Given the description of an element on the screen output the (x, y) to click on. 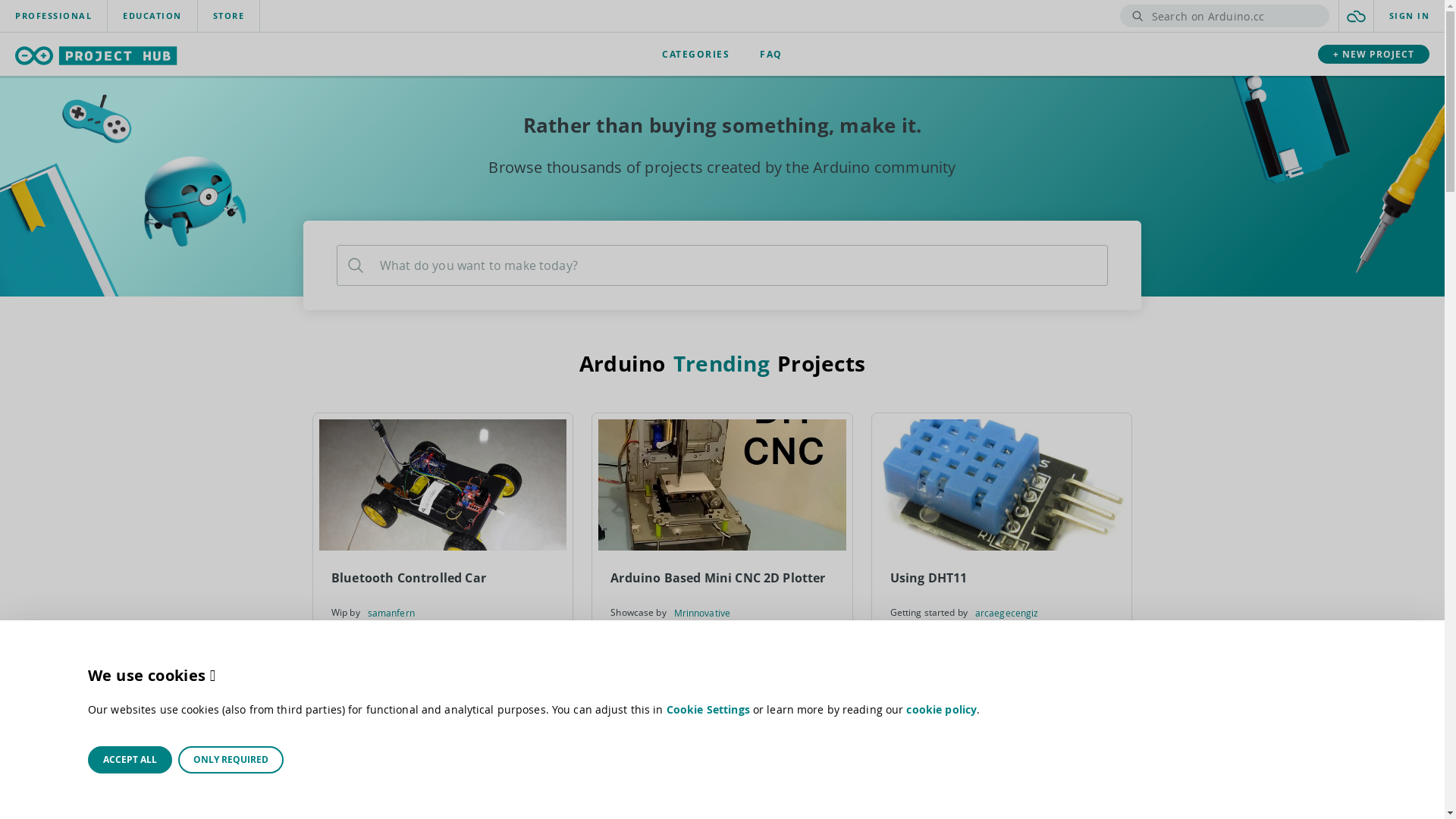
ACCEPT ALL Element type: text (129, 759)
Cookie Settings Element type: text (707, 709)
SIGN IN Element type: text (1409, 15)
STORE Element type: text (228, 15)
PROFESSIONAL Element type: text (53, 15)
CATEGORIES Element type: text (695, 53)
FAQ Element type: text (770, 53)
ONLY REQUIRED Element type: text (230, 759)
cookie policy Element type: text (941, 709)
EDUCATION Element type: text (152, 15)
+ NEW PROJECT Element type: text (1373, 53)
